Given the description of an element on the screen output the (x, y) to click on. 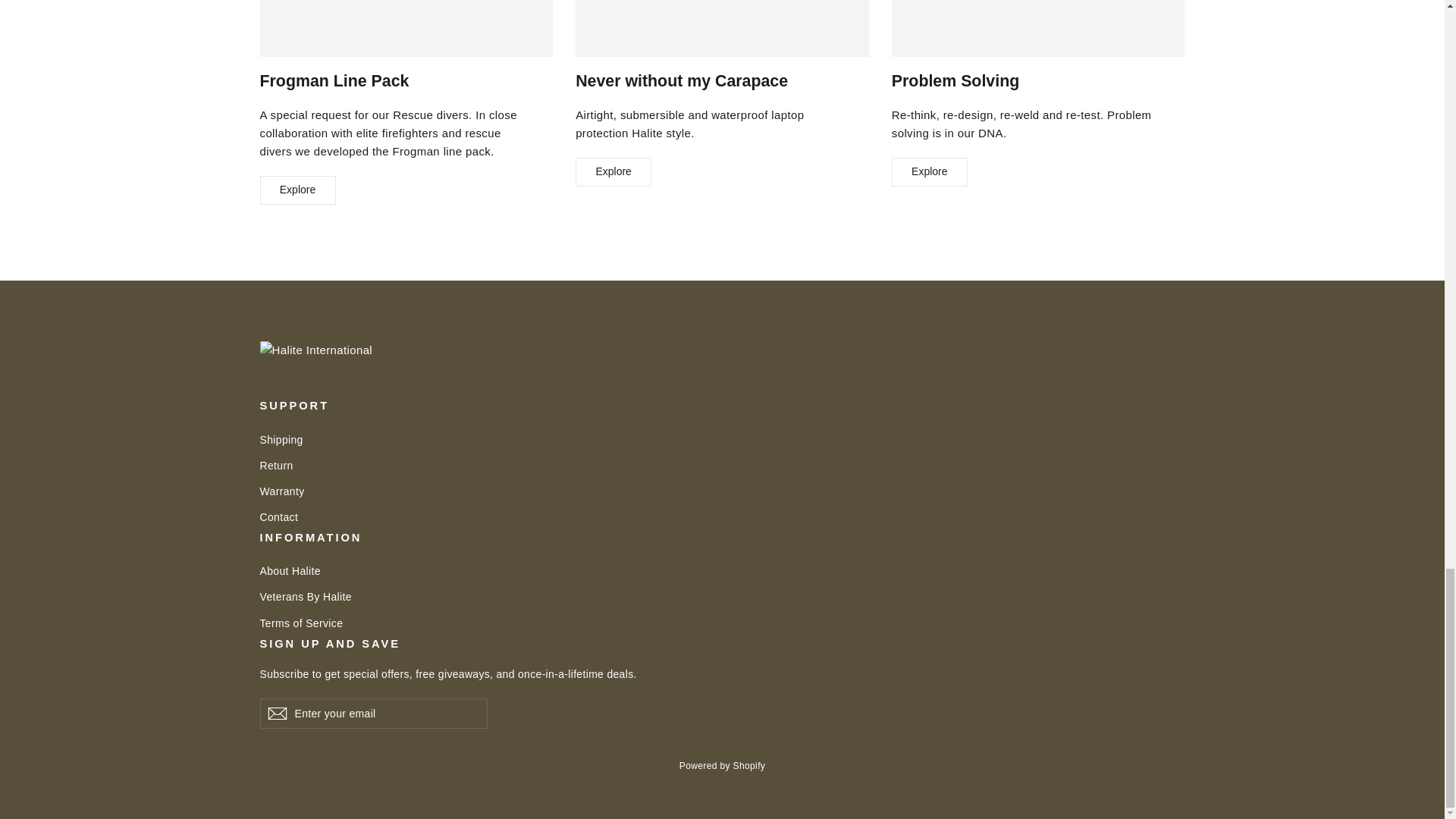
Subscribe (276, 713)
Explore (929, 172)
Terms of Service (722, 622)
About Halite (722, 570)
Return (722, 465)
Explore (296, 190)
Explore (612, 172)
Veterans By Halite (722, 596)
Contact (722, 517)
Warranty (722, 490)
